Given the description of an element on the screen output the (x, y) to click on. 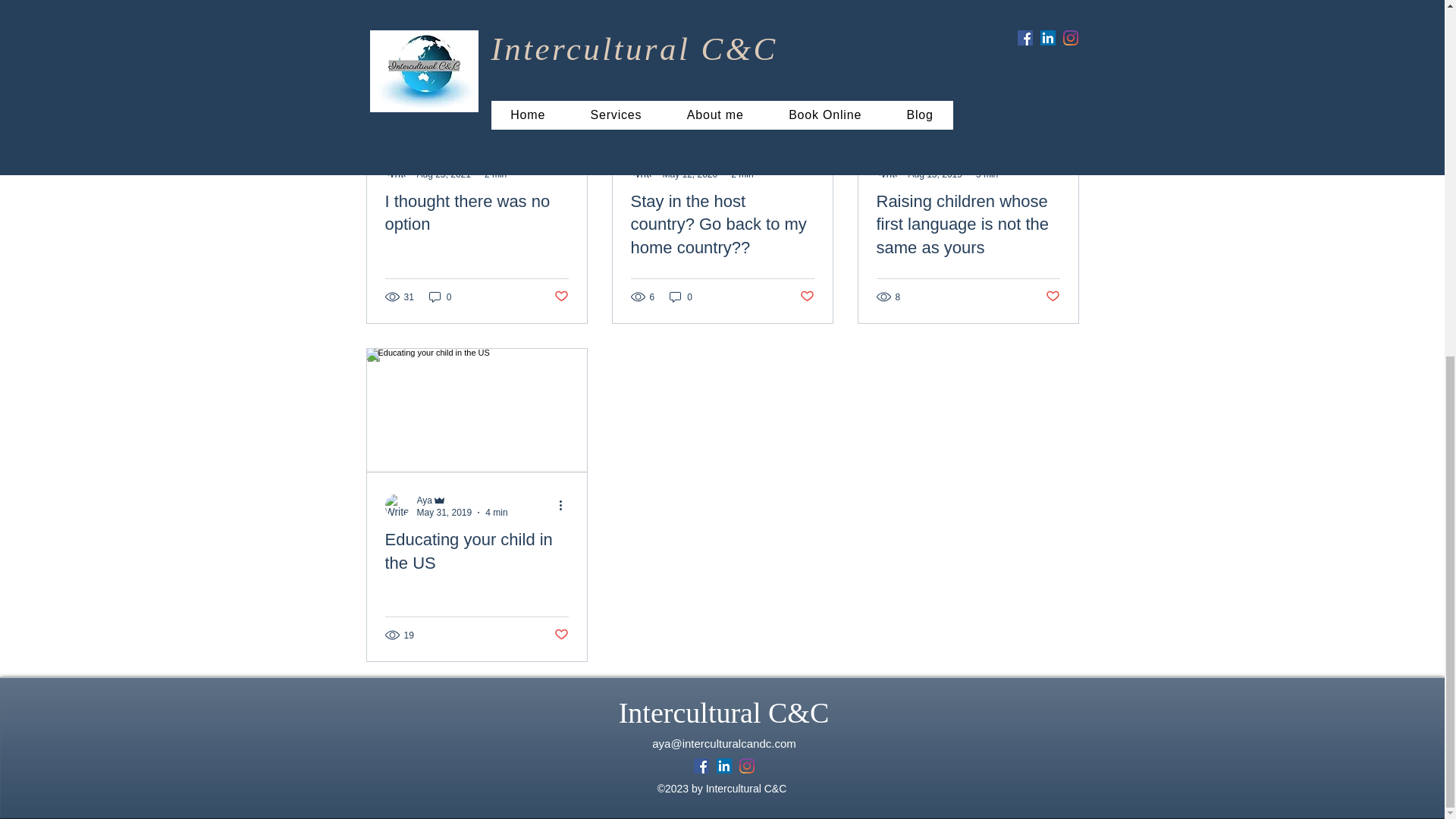
2 min (741, 173)
Aya (424, 161)
Aya (670, 161)
5 min (986, 173)
2 min (495, 173)
Aug 25, 2021 (443, 173)
Aug 15, 2019 (935, 173)
Aya (424, 500)
May 12, 2020 (689, 173)
Aya (915, 161)
